Given the description of an element on the screen output the (x, y) to click on. 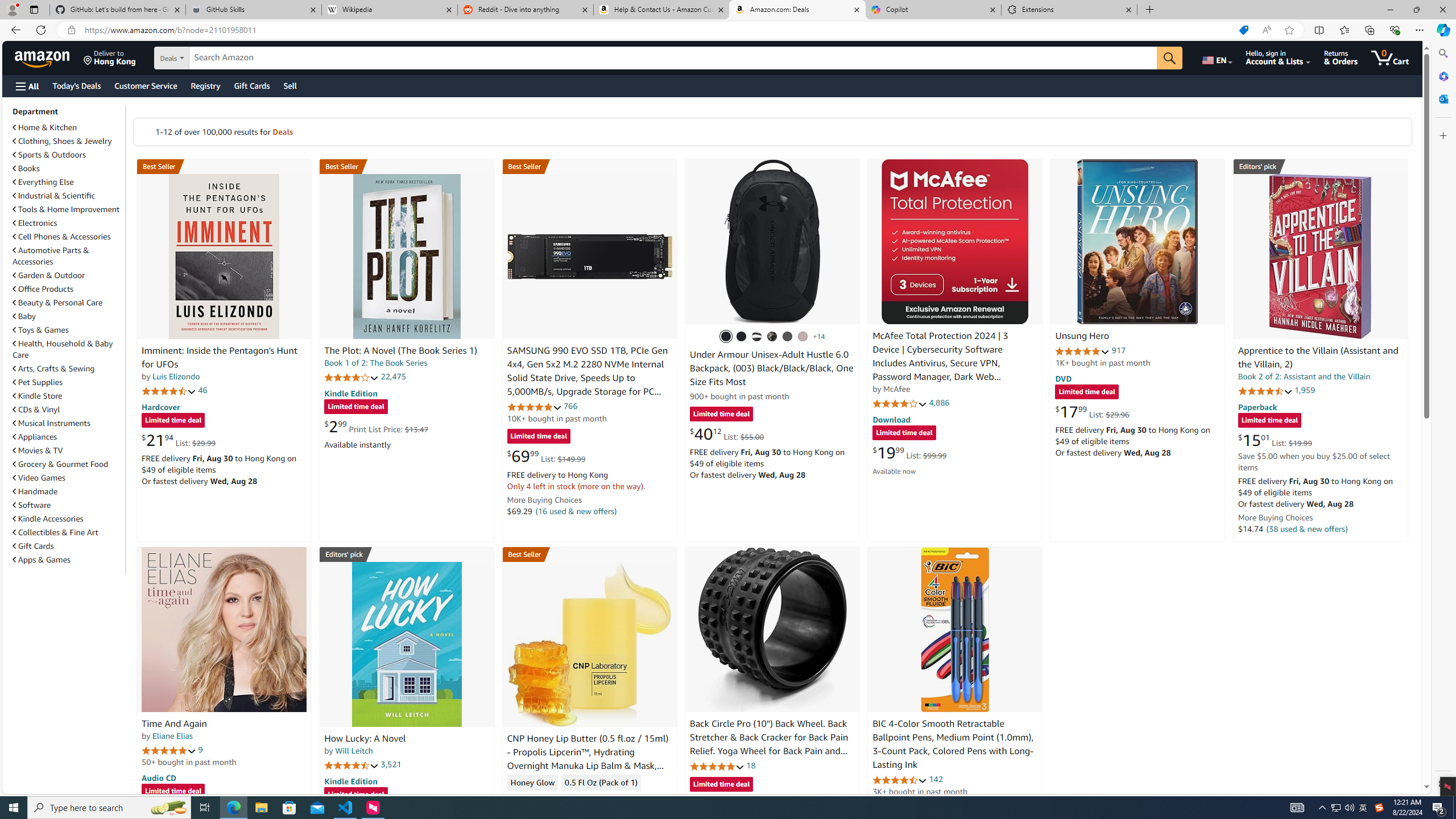
Office Products (67, 288)
Extensions (1068, 9)
4.2 out of 5 stars (352, 377)
Audio CD (158, 777)
(005) Black Full Heather / Black / Metallic Gold (788, 336)
(38 used & new offers) (1307, 528)
Apps & Games (67, 559)
Sports & Outdoors (67, 154)
Time And Again (224, 628)
Software (67, 505)
46 (203, 390)
